Given the description of an element on the screen output the (x, y) to click on. 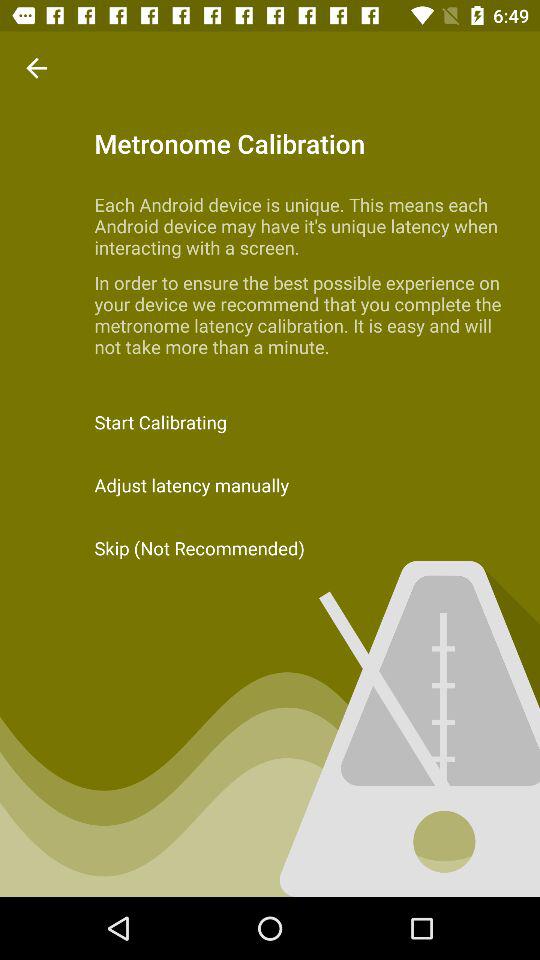
turn on the skip (not recommended) (270, 547)
